Given the description of an element on the screen output the (x, y) to click on. 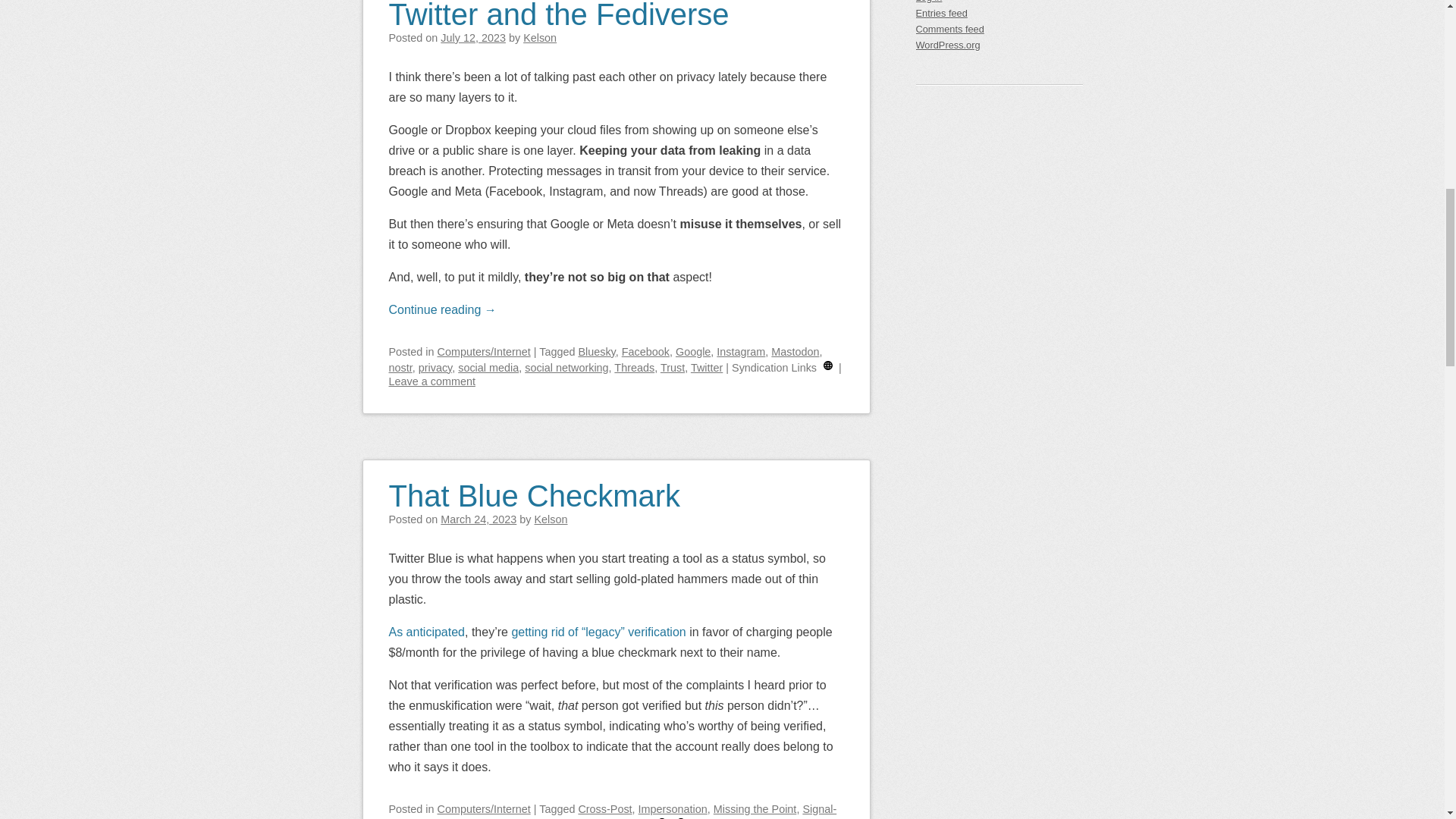
Twitter (706, 367)
Privacy and Trust: Threads, Twitter and the Fediverse (573, 15)
View all posts by Kelson (539, 37)
March 24, 2023 (478, 519)
Trust (672, 367)
Google (692, 351)
View all posts by Kelson (550, 519)
Threads (633, 367)
nostr (400, 367)
Permalink to That Blue Checkmark (533, 486)
Leave a comment (431, 381)
Kelson (550, 519)
Mastodon (794, 351)
July 12, 2023 (473, 37)
